Given the description of an element on the screen output the (x, y) to click on. 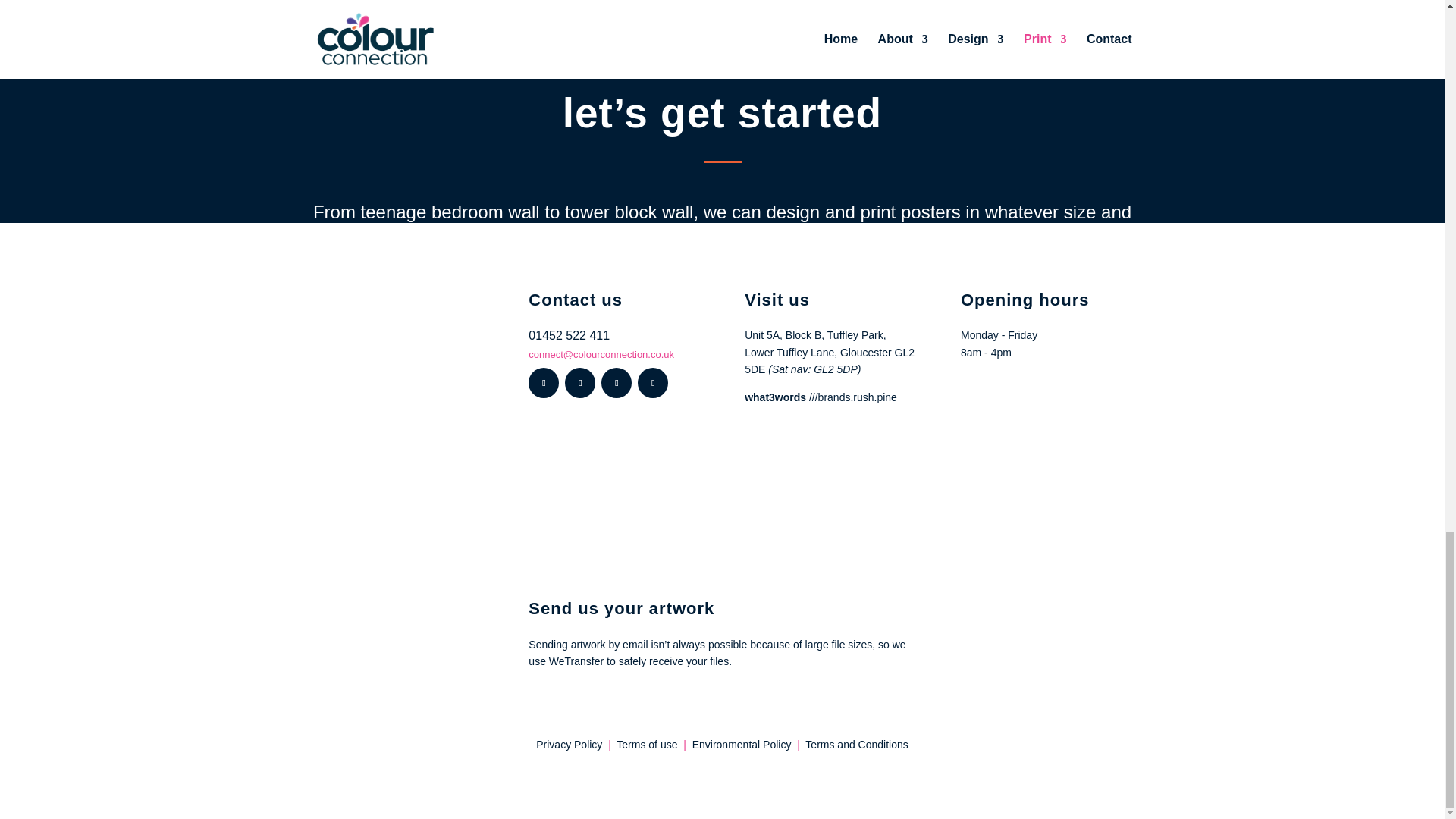
Follow on Instagram (652, 382)
Follow on LinkedIn (616, 382)
Follow on Facebook (543, 382)
Follow on X (579, 382)
